Given the description of an element on the screen output the (x, y) to click on. 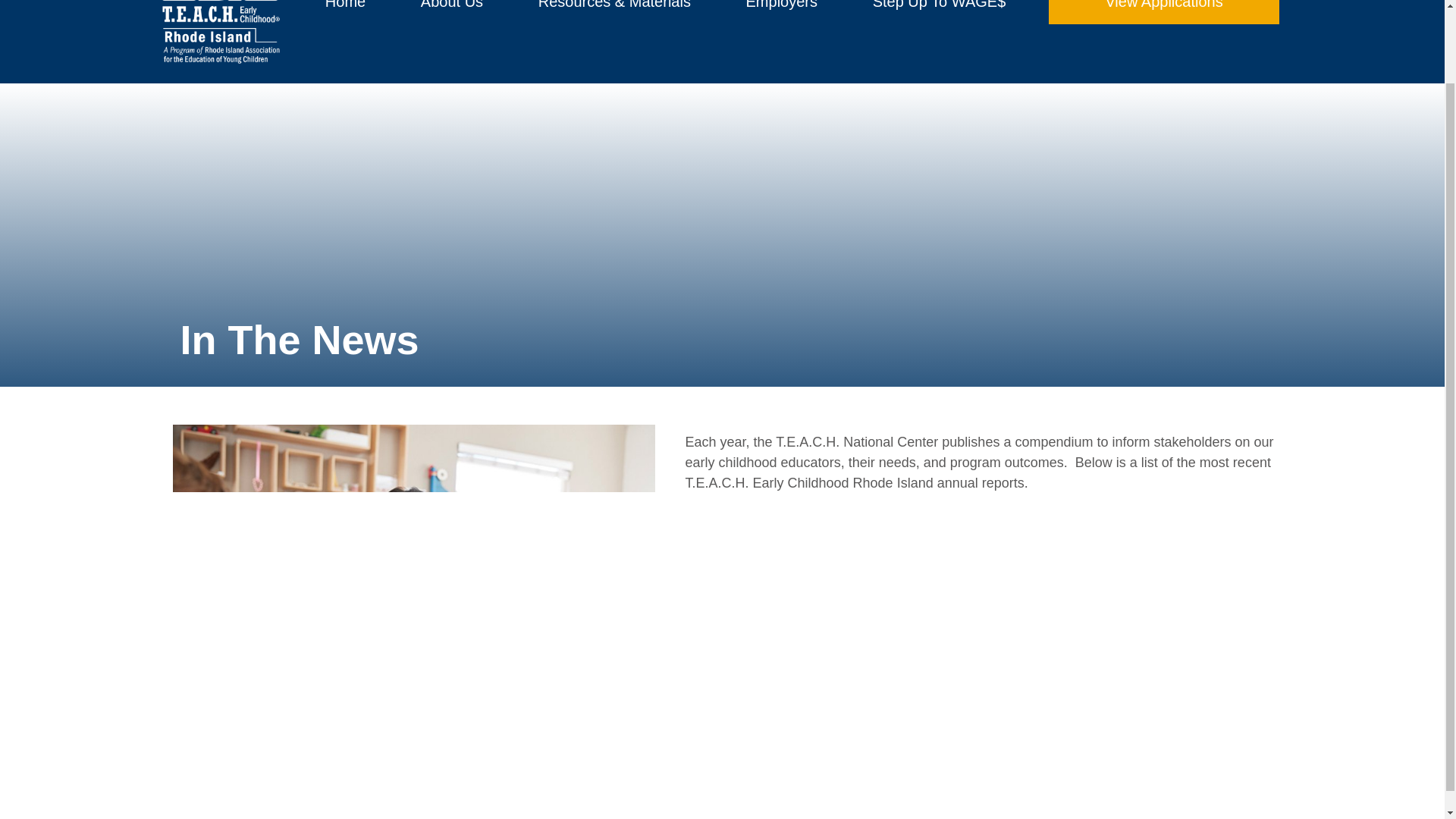
Home (345, 11)
About Us (452, 11)
View Applications (1163, 12)
Employers (780, 11)
